Given the description of an element on the screen output the (x, y) to click on. 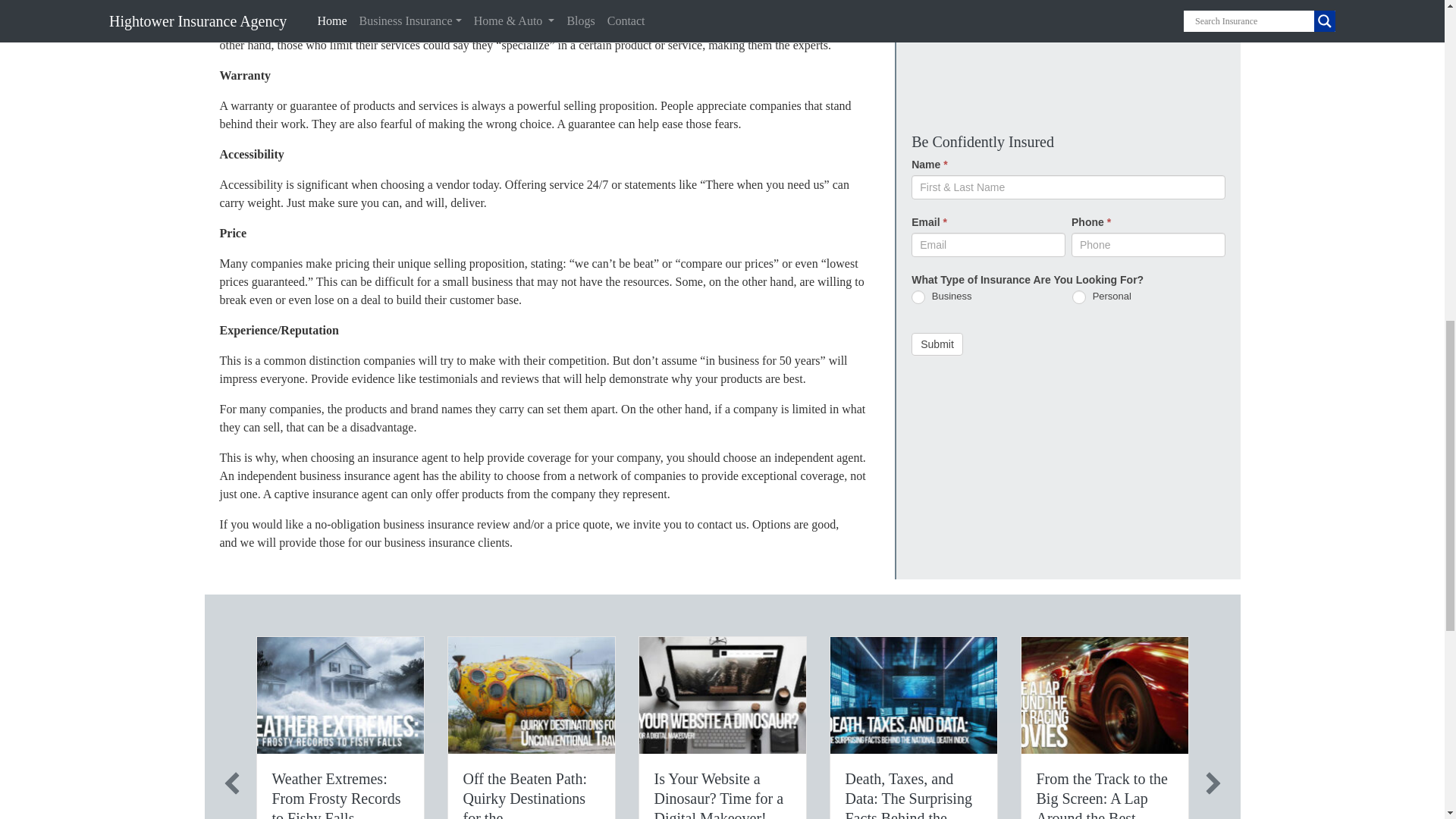
FUN-Quirky Destinations for the Unconventional Traveler (530, 695)
Weather Extremes: From Frosty Records to Fishy Falls (335, 794)
Is Your Website a Dinosaur? Time for a Digital Makeover! (718, 794)
Weather Extremes: From Frosty Records to Fishy Falls (335, 794)
